Given the description of an element on the screen output the (x, y) to click on. 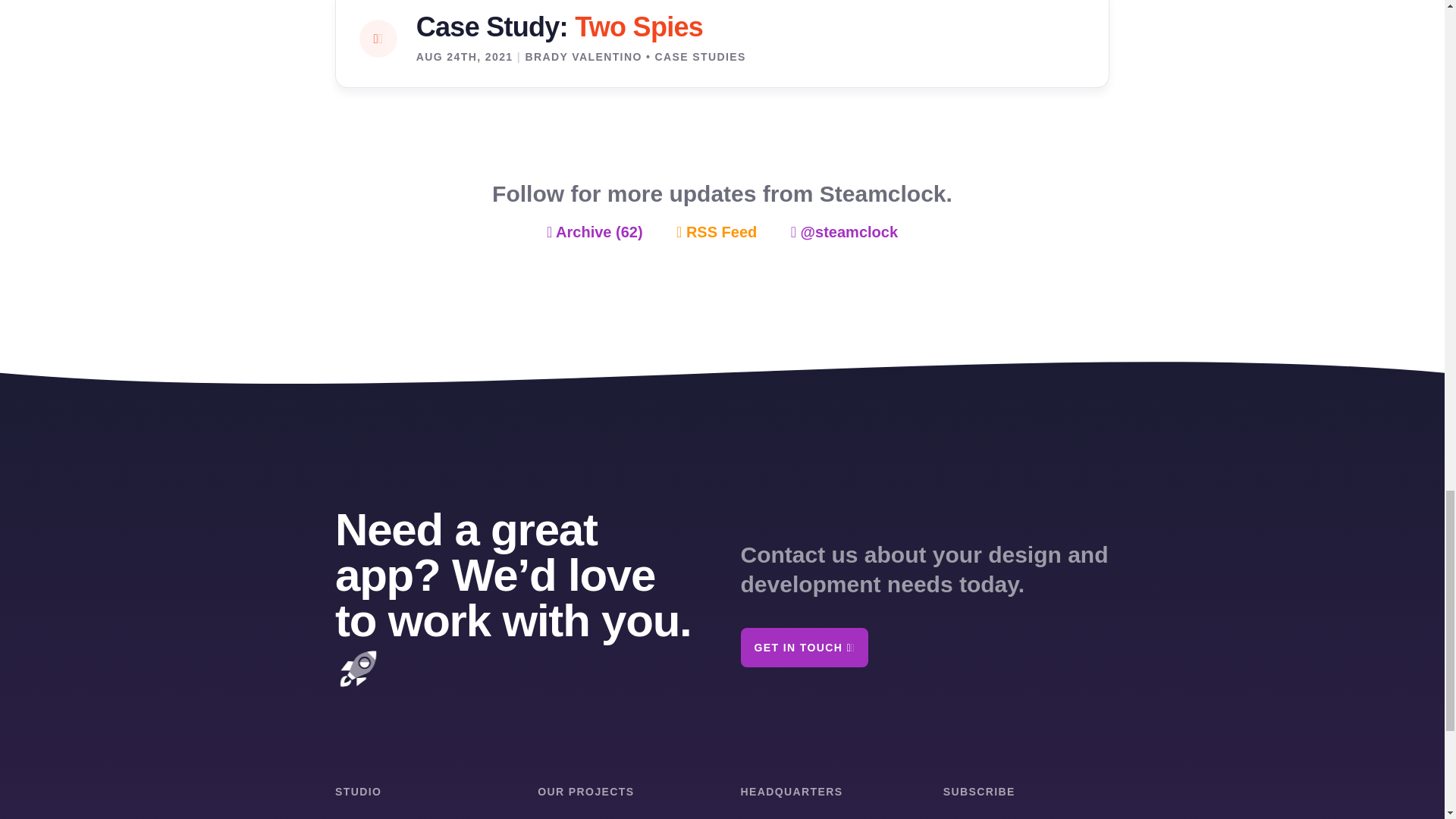
Case Study: Two Spies (559, 26)
RSS Feed (717, 232)
Services (360, 816)
GET IN TOUCH (803, 647)
The Feedback Wizard (822, 817)
